Given the description of an element on the screen output the (x, y) to click on. 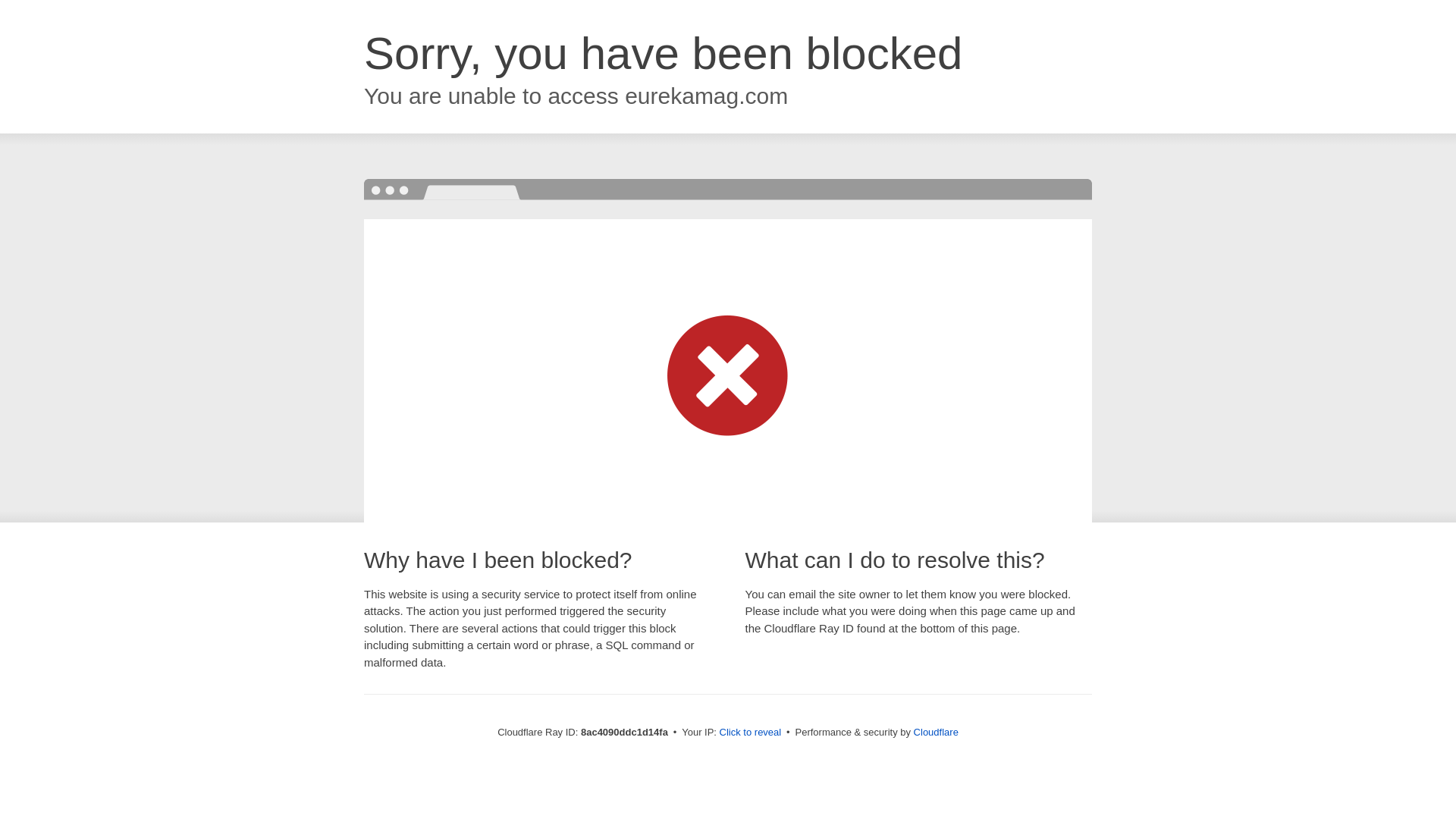
Click to reveal (750, 732)
Cloudflare (936, 731)
